Given the description of an element on the screen output the (x, y) to click on. 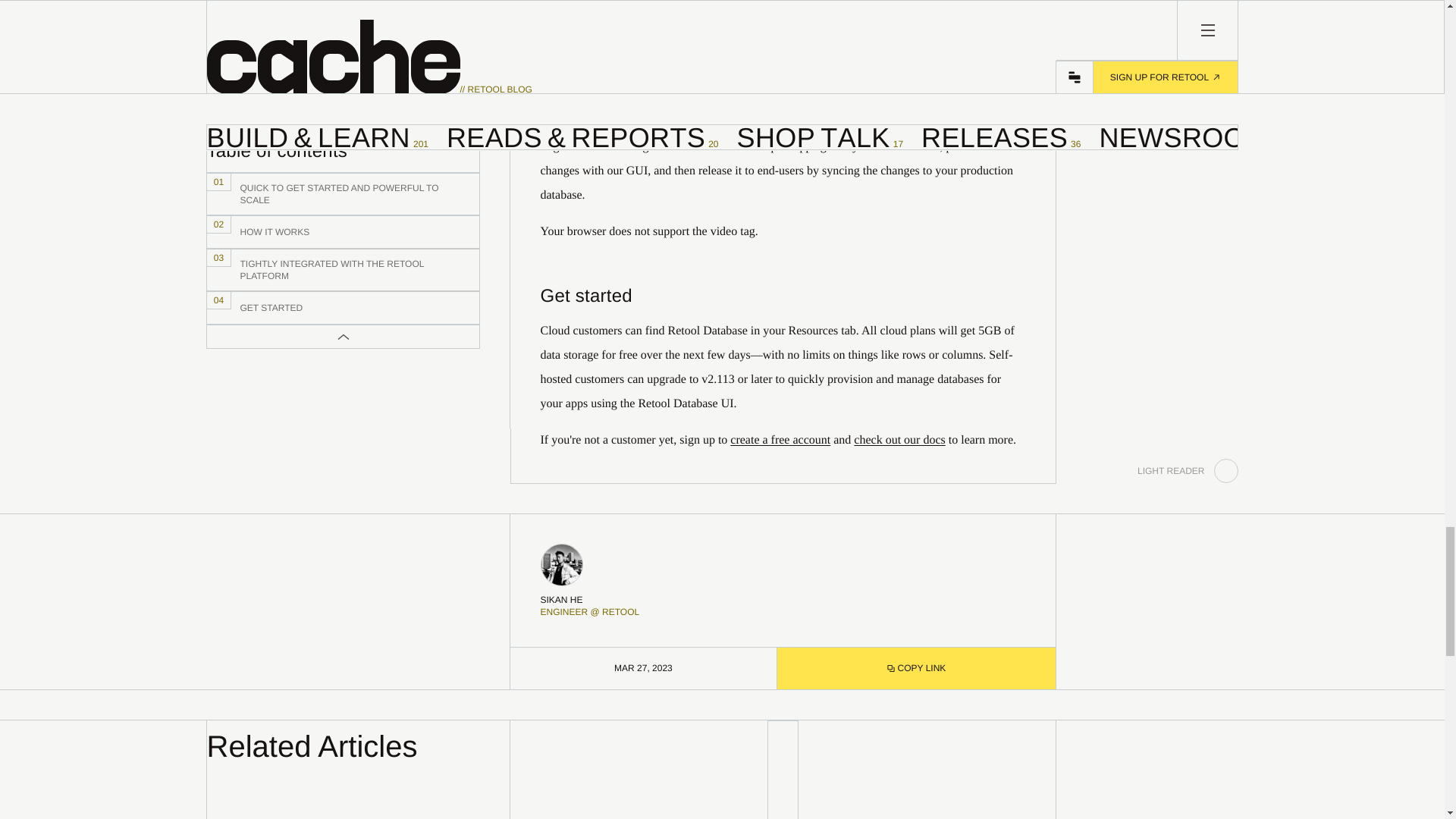
Get started (638, 769)
Get started (782, 287)
create a free account (782, 296)
check out our docs (779, 440)
COPY LINK (898, 440)
